Given the description of an element on the screen output the (x, y) to click on. 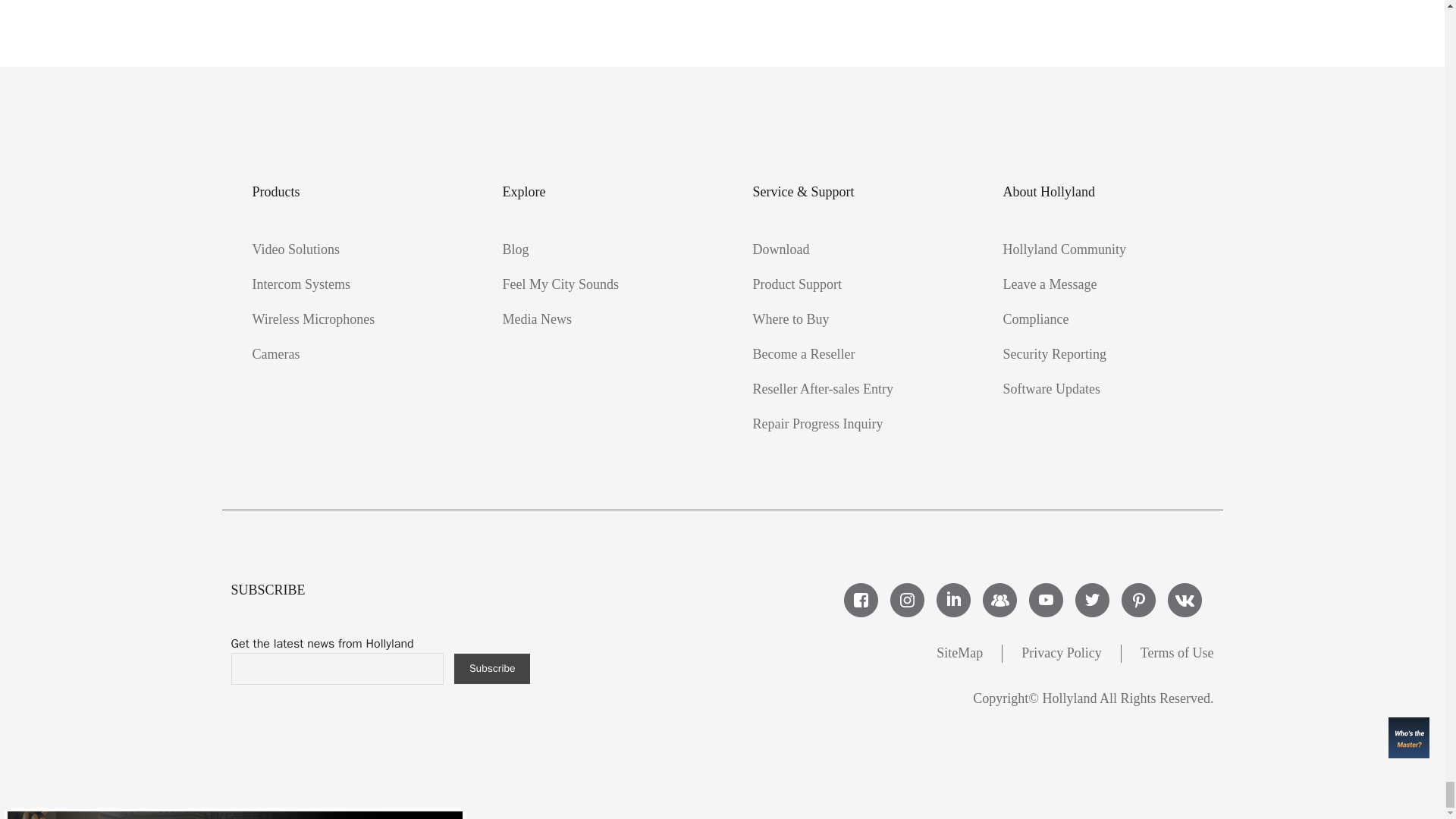
Subscribe (491, 668)
